Given the description of an element on the screen output the (x, y) to click on. 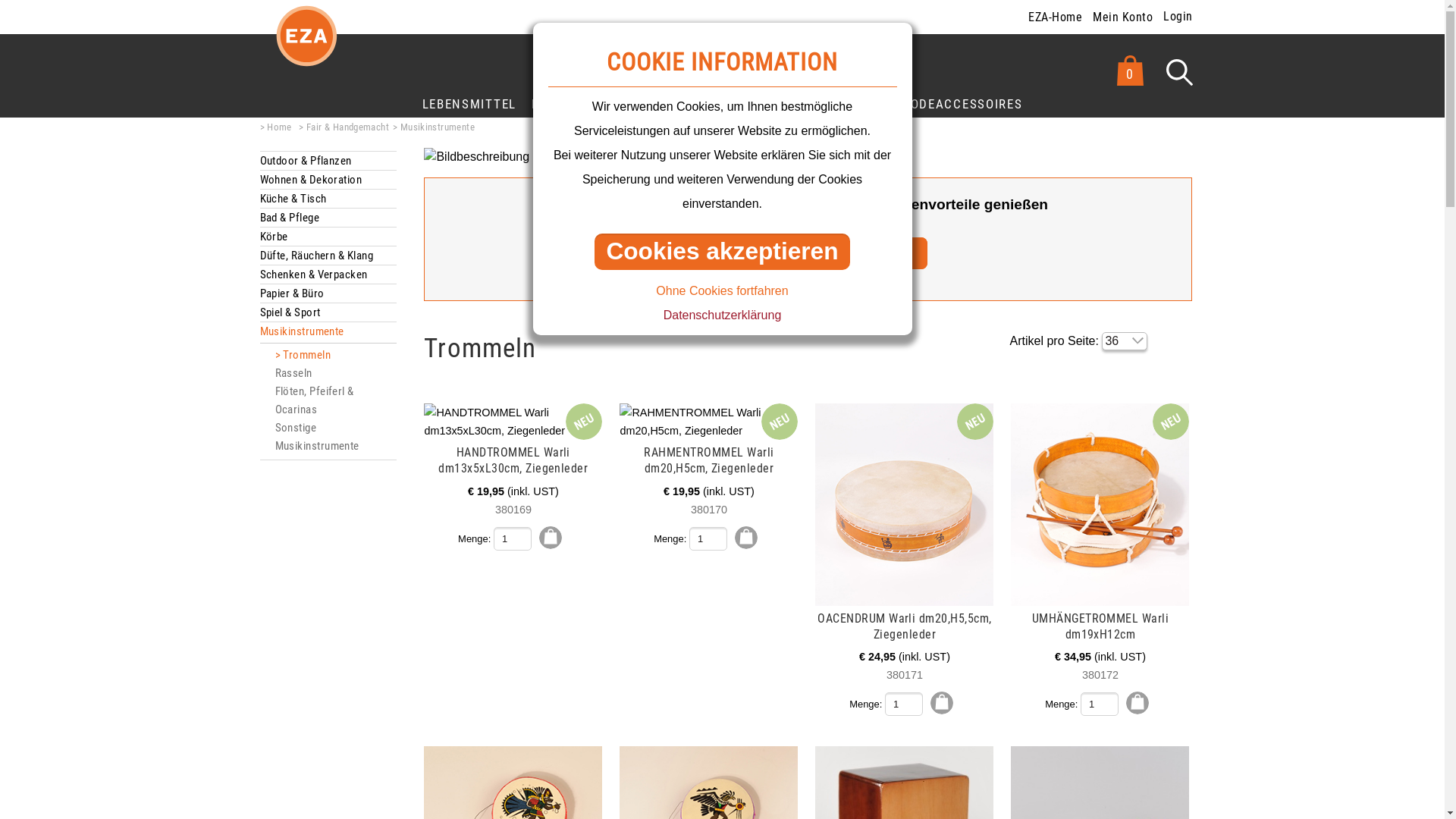
Wohnen & Dekoration Element type: text (310, 179)
0 Element type: text (1129, 72)
mehr Element type: text (622, 506)
Bad & Pflege Element type: text (288, 217)
Home Element type: text (275, 126)
Sonstige Musikinstrumente Element type: text (316, 436)
EZA-Home Element type: text (1054, 15)
LEBENSMITTEL Element type: text (469, 103)
Shop Startseite Element type: hover (305, 47)
Outdoor & Pflanzen Element type: text (305, 160)
mehr Element type: text (426, 506)
Musikinstrumente Element type: text (433, 126)
Registrieren Element type: text (873, 253)
Artikeldetails anzeigen Element type: hover (904, 504)
Mein Konto Element type: text (1122, 15)
Schenken & Verpacken Element type: text (313, 274)
Cookies akzeptieren Element type: text (721, 251)
  Anmelden   Element type: text (743, 253)
Spiel & Sport Element type: text (289, 312)
Login Element type: text (1174, 15)
Musikinstrumente Element type: text (301, 331)
Fair & Handgemacht Element type: text (343, 126)
FAIR FASHION Element type: text (679, 103)
Rasseln Element type: text (292, 372)
Trommeln Element type: text (302, 354)
FAIR & HANDGEMACHT Element type: text (811, 103)
Artikeldetails anzeigen Element type: hover (708, 421)
BIO-KOSMETIK Element type: text (576, 103)
mehr Element type: text (1013, 506)
Artikeldetails anzeigen Element type: hover (512, 421)
Artikeldetails anzeigen Element type: hover (1099, 504)
Ohne Cookies fortfahren Element type: text (721, 290)
MODEACCESSOIRES Element type: text (960, 103)
mehr Element type: text (818, 506)
